Given the description of an element on the screen output the (x, y) to click on. 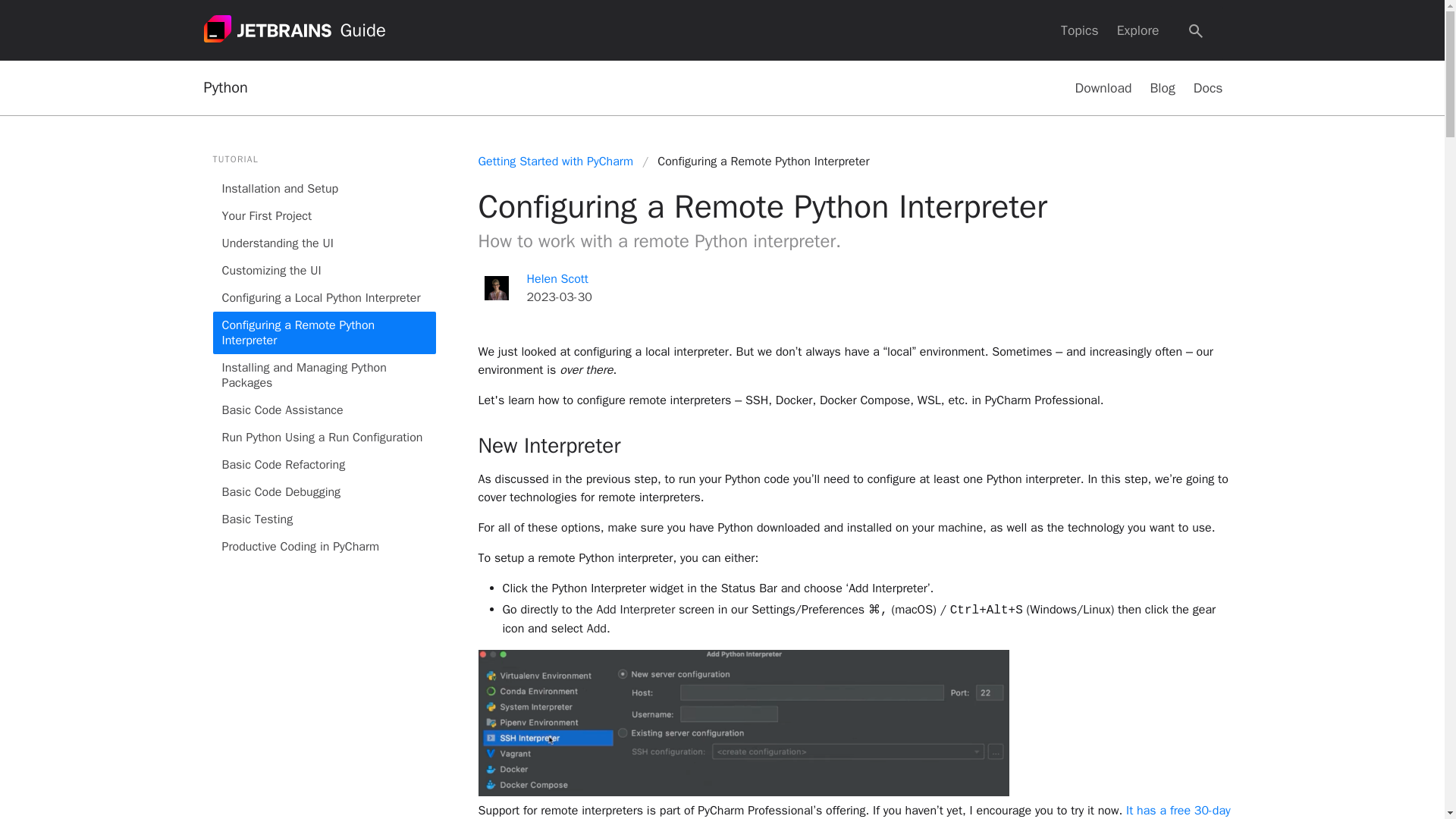
Installation and Setup (323, 188)
Understanding the UI (323, 243)
Download (1103, 87)
Explore (1138, 30)
Installing and Managing Python Packages (323, 374)
Run Python Using a Run Configuration (323, 437)
Basic Code Assistance (323, 410)
Python (225, 87)
Configuring a Remote Python Interpreter (323, 332)
Guide (362, 30)
